Given the description of an element on the screen output the (x, y) to click on. 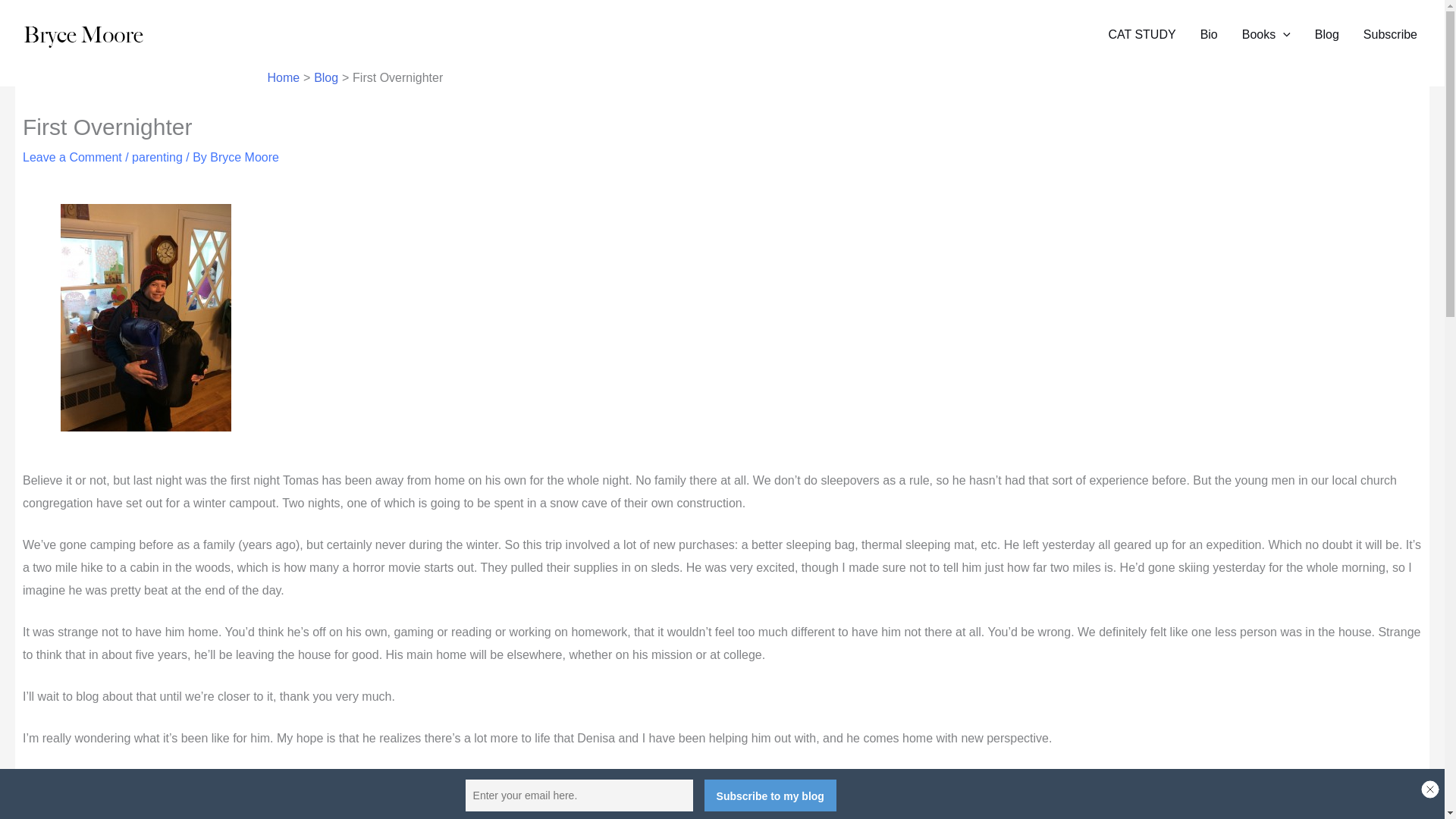
CAT STUDY (1142, 34)
Blog (1327, 34)
View all posts by Bryce Moore (244, 156)
Books (1266, 34)
parenting (157, 156)
Subscribe (1390, 34)
Subscribe to my blog (769, 795)
Home (282, 77)
Leave a Comment (72, 156)
Blog (325, 77)
